Given the description of an element on the screen output the (x, y) to click on. 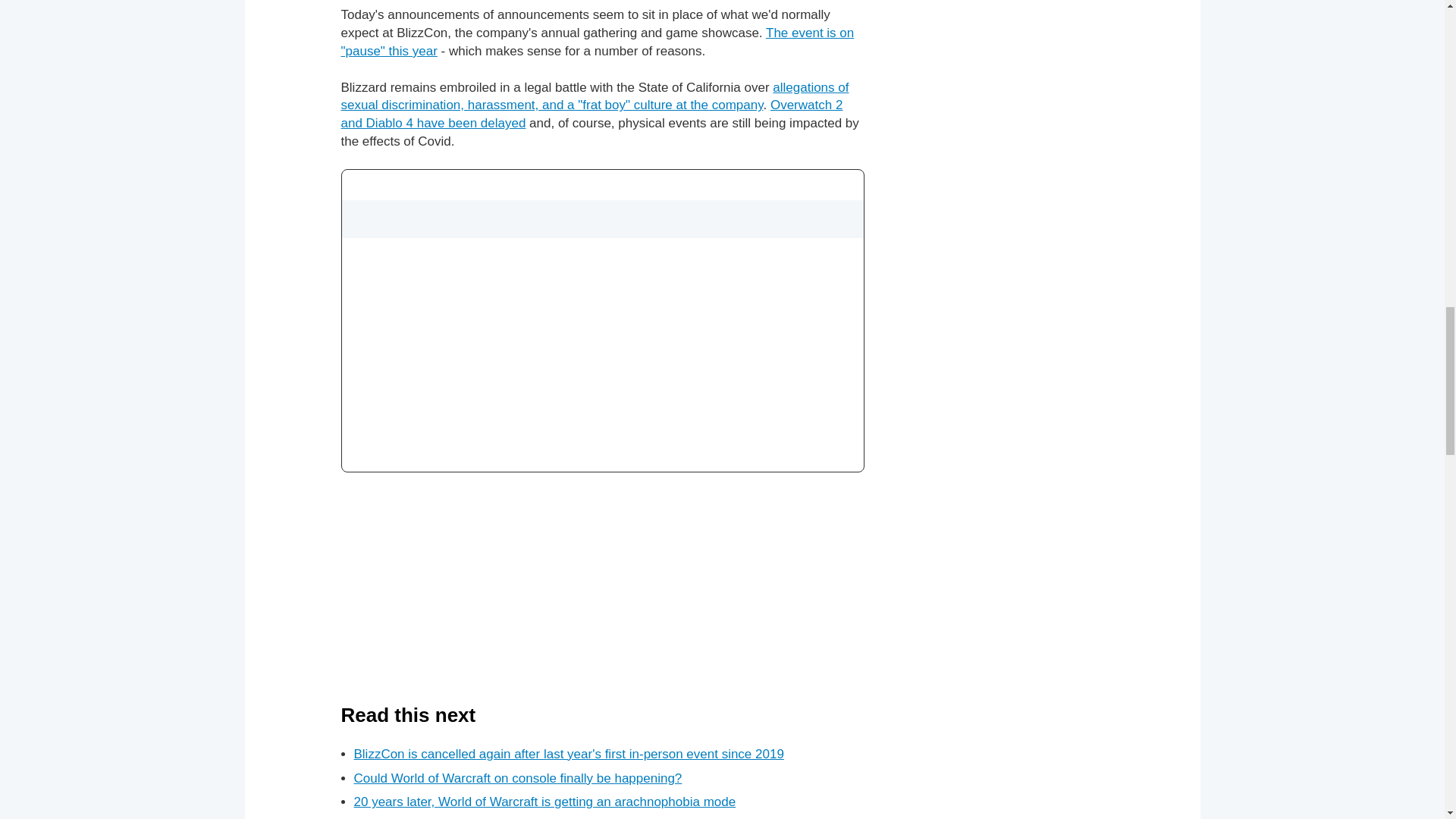
Could World of Warcraft on console finally be happening? (517, 778)
Overwatch 2 and Diablo 4 have been delayed (591, 113)
The event is on "pause" this year (597, 41)
